Given the description of an element on the screen output the (x, y) to click on. 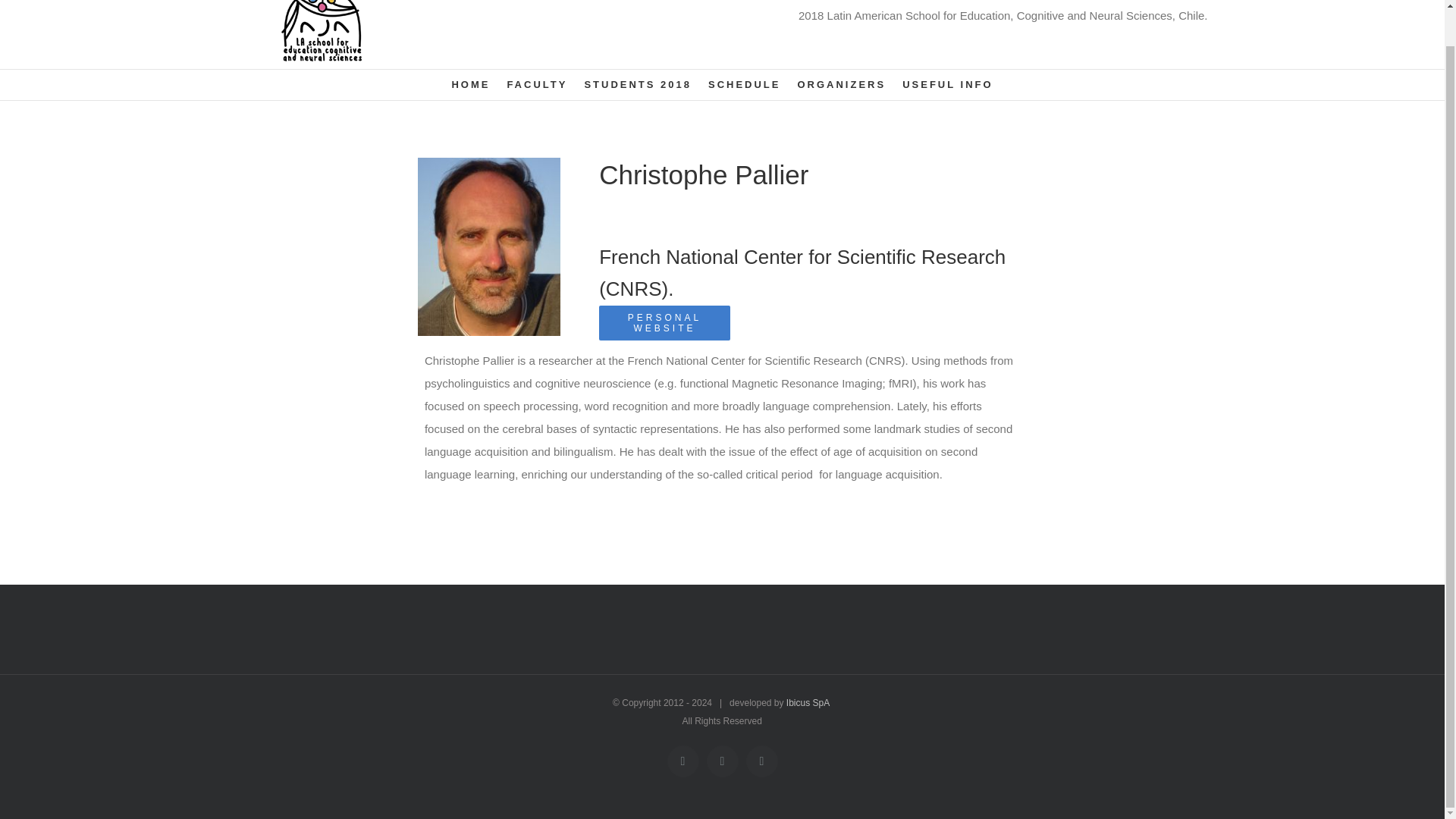
FACULTY (536, 84)
Instagram (761, 760)
STUDENTS 2018 (637, 84)
Facebook (682, 760)
Twitter (722, 760)
USEFUL INFO (947, 84)
Facebook (682, 760)
Twitter (722, 760)
Instagram (761, 760)
SCHEDULE (743, 84)
